Given the description of an element on the screen output the (x, y) to click on. 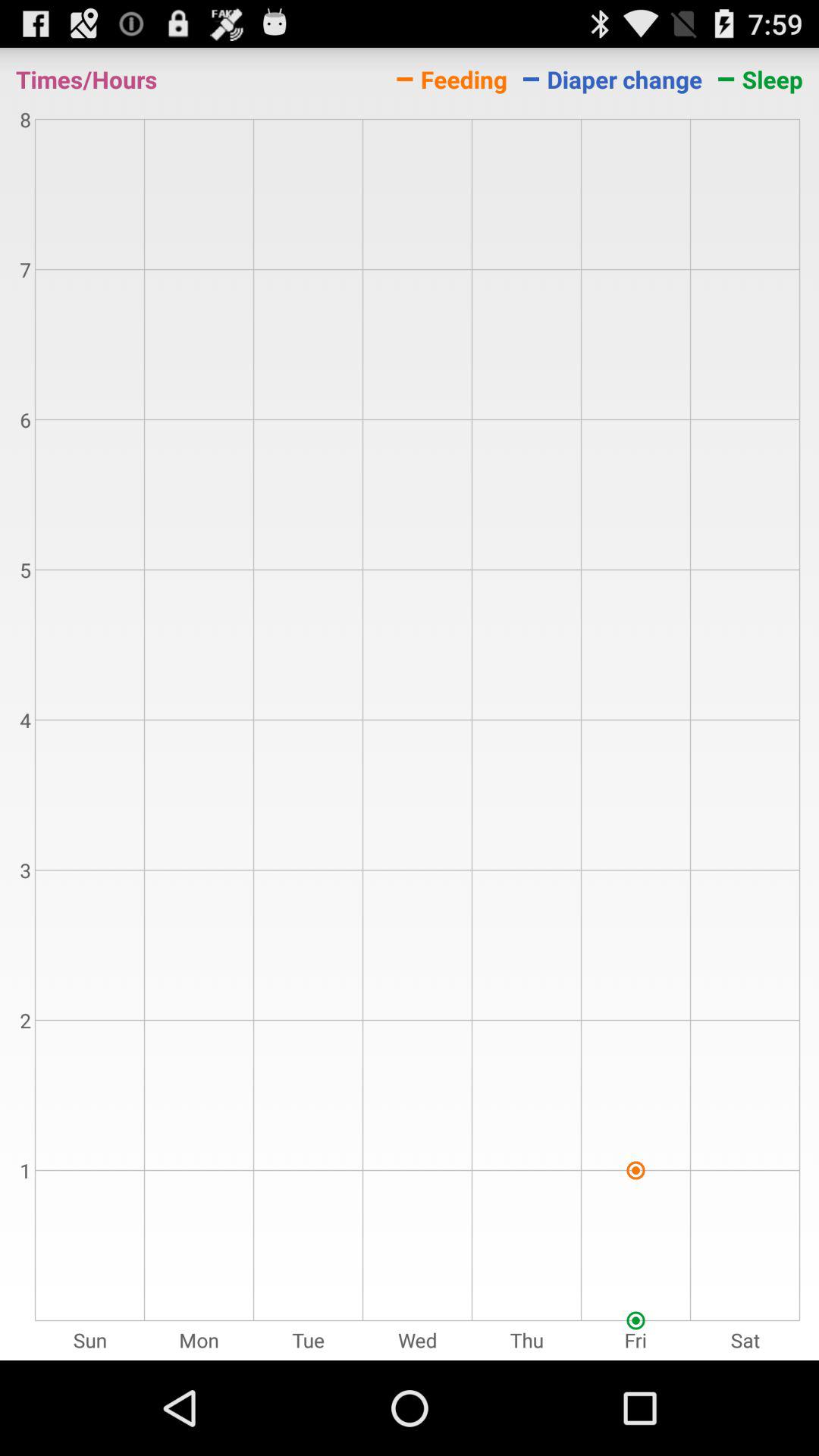
select the icon below the times/hours item (409, 735)
